Given the description of an element on the screen output the (x, y) to click on. 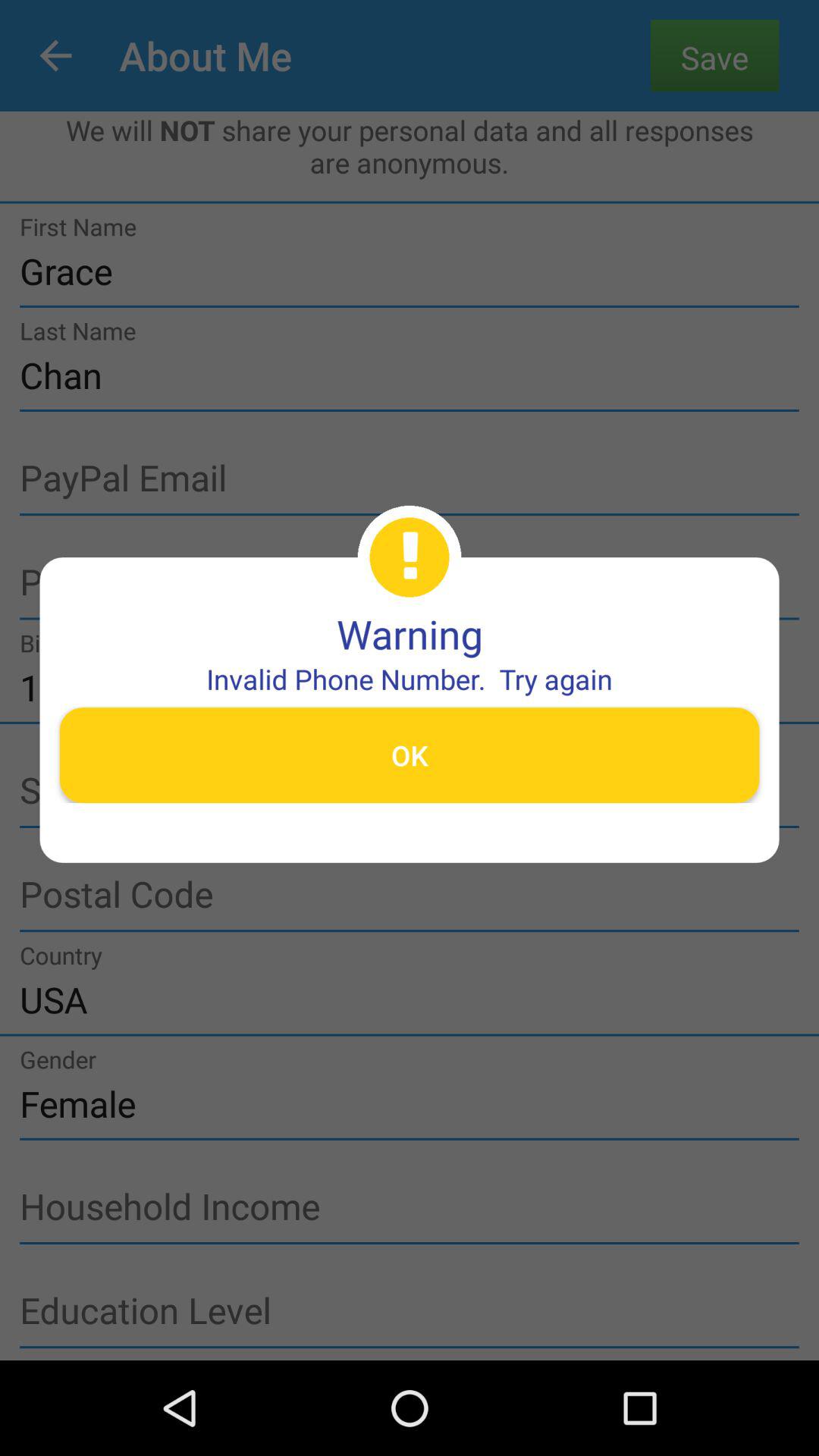
turn off ok button (409, 755)
